Given the description of an element on the screen output the (x, y) to click on. 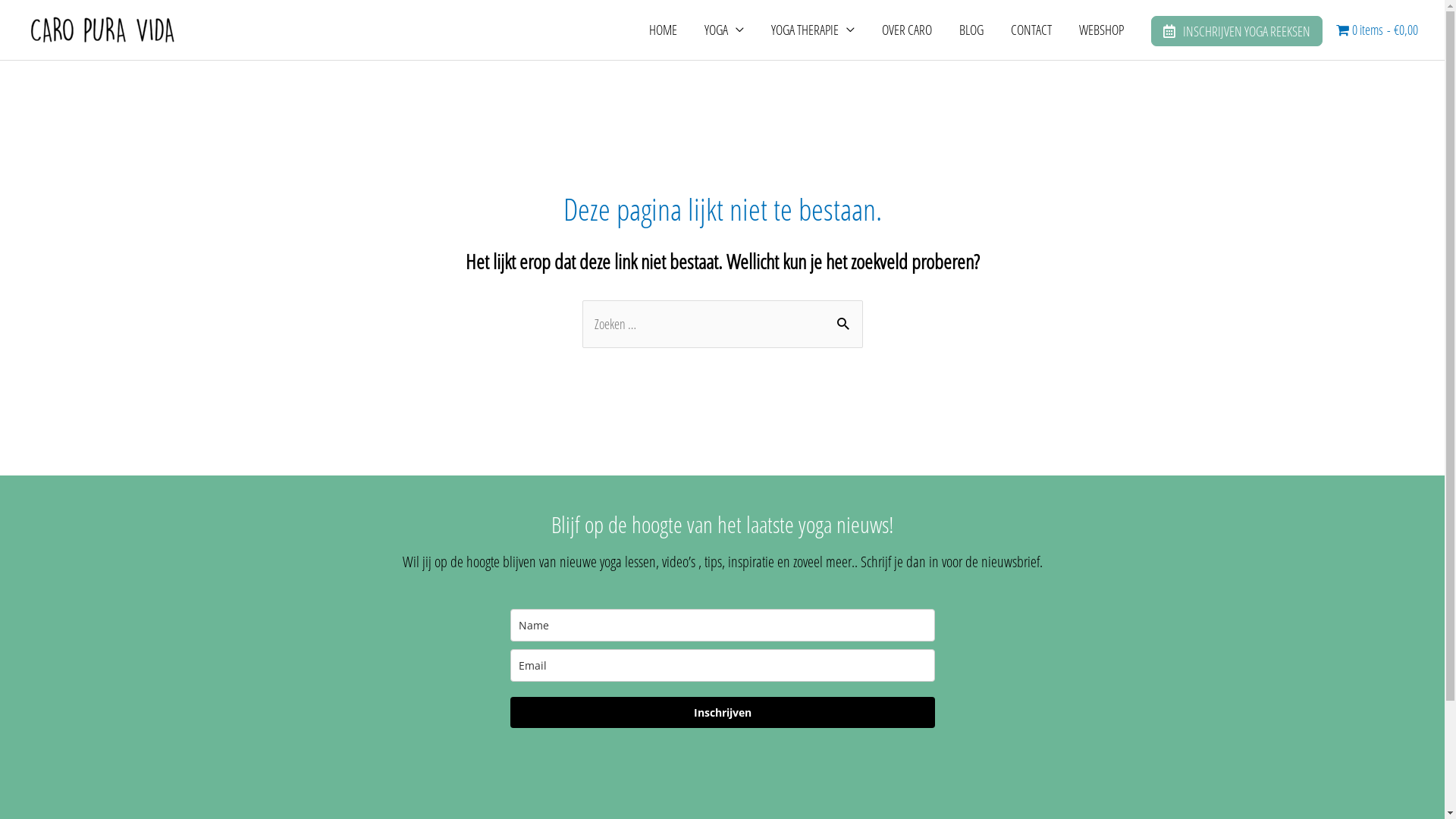
BLOG Element type: text (970, 29)
CONTACT Element type: text (1030, 29)
Zoeken Element type: text (845, 322)
Inschrijven Element type: text (721, 712)
YOGA Element type: text (723, 29)
YOGA THERAPIE Element type: text (811, 29)
HOME Element type: text (662, 29)
WEBSHOP Element type: text (1100, 29)
OVER CARO Element type: text (905, 29)
  INSCHRIJVEN YOGA REEKSEN Element type: text (1236, 30)
  INSCHRIJVEN YOGA REEKSEN Element type: text (1236, 31)
